Given the description of an element on the screen output the (x, y) to click on. 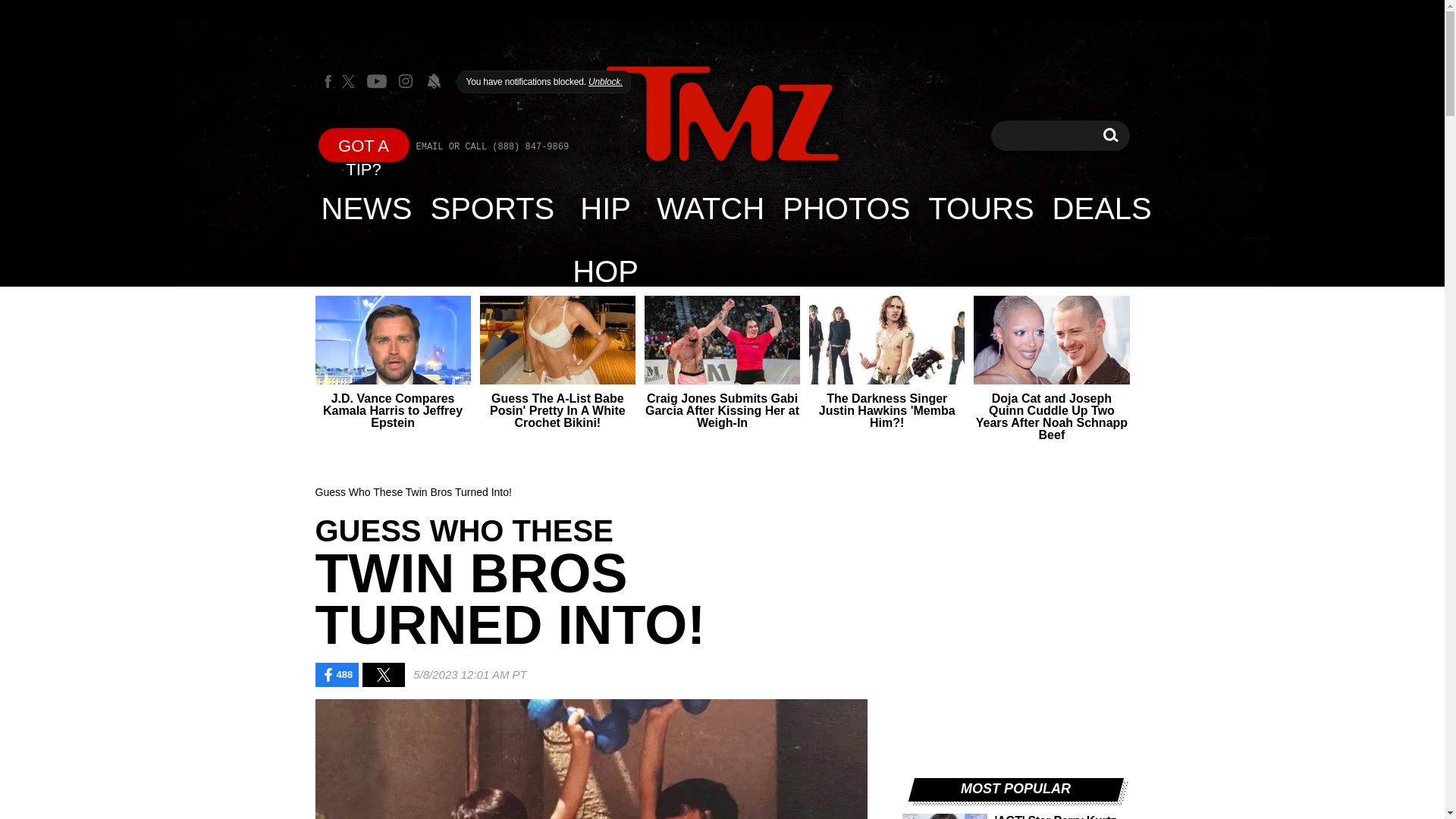
TMZ (722, 113)
GOT A TIP? (363, 144)
Search (1110, 134)
SPORTS (493, 207)
NEWS (367, 207)
TOURS (980, 207)
DEALS (1110, 135)
PHOTOS (1101, 207)
